Given the description of an element on the screen output the (x, y) to click on. 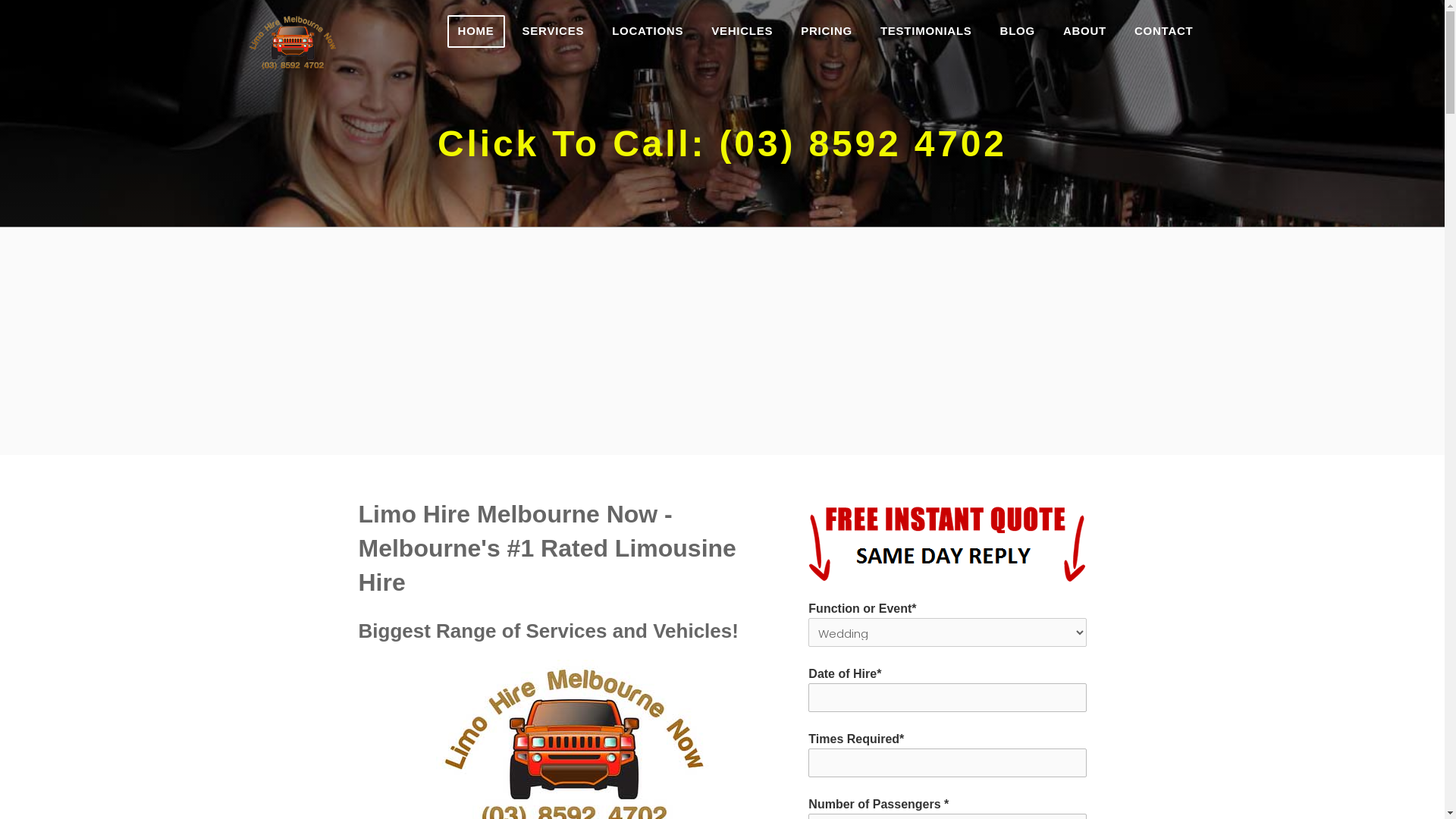
HOME Element type: text (476, 31)
SERVICES Element type: text (553, 31)
Advertisement Element type: hover (721, 341)
Click To Call: (03) 8592 4702 Element type: text (722, 143)
LOCATIONS Element type: text (647, 31)
BLOG Element type: text (1017, 31)
ABOUT Element type: text (1084, 31)
PRICING Element type: text (826, 31)
TESTIMONIALS Element type: text (925, 31)
CONTACT Element type: text (1163, 31)
VEHICLES Element type: text (741, 31)
